Given the description of an element on the screen output the (x, y) to click on. 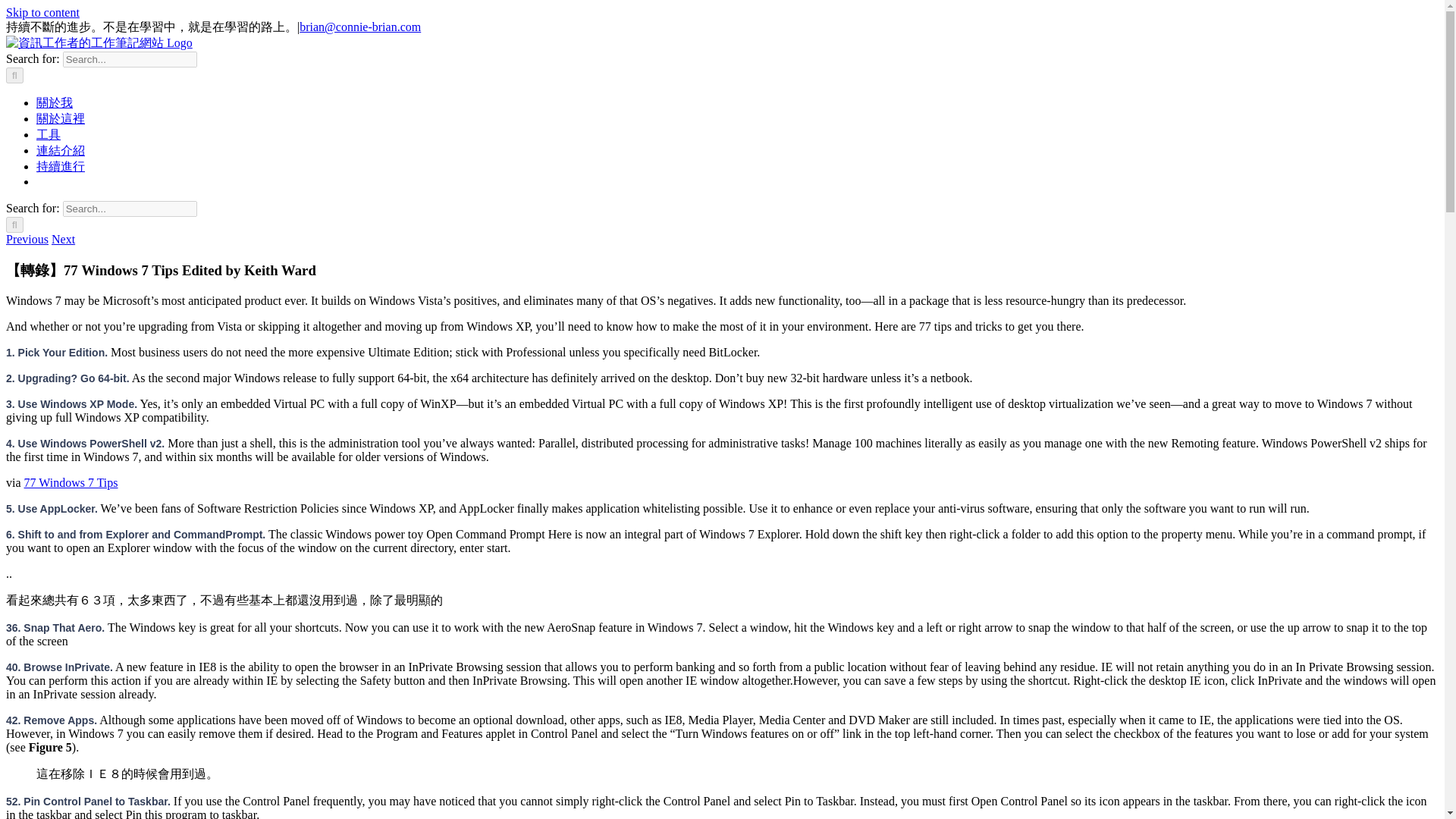
Skip to content (42, 11)
Previous (26, 238)
77 Windows 7 Tips (70, 481)
Next (62, 238)
